Given the description of an element on the screen output the (x, y) to click on. 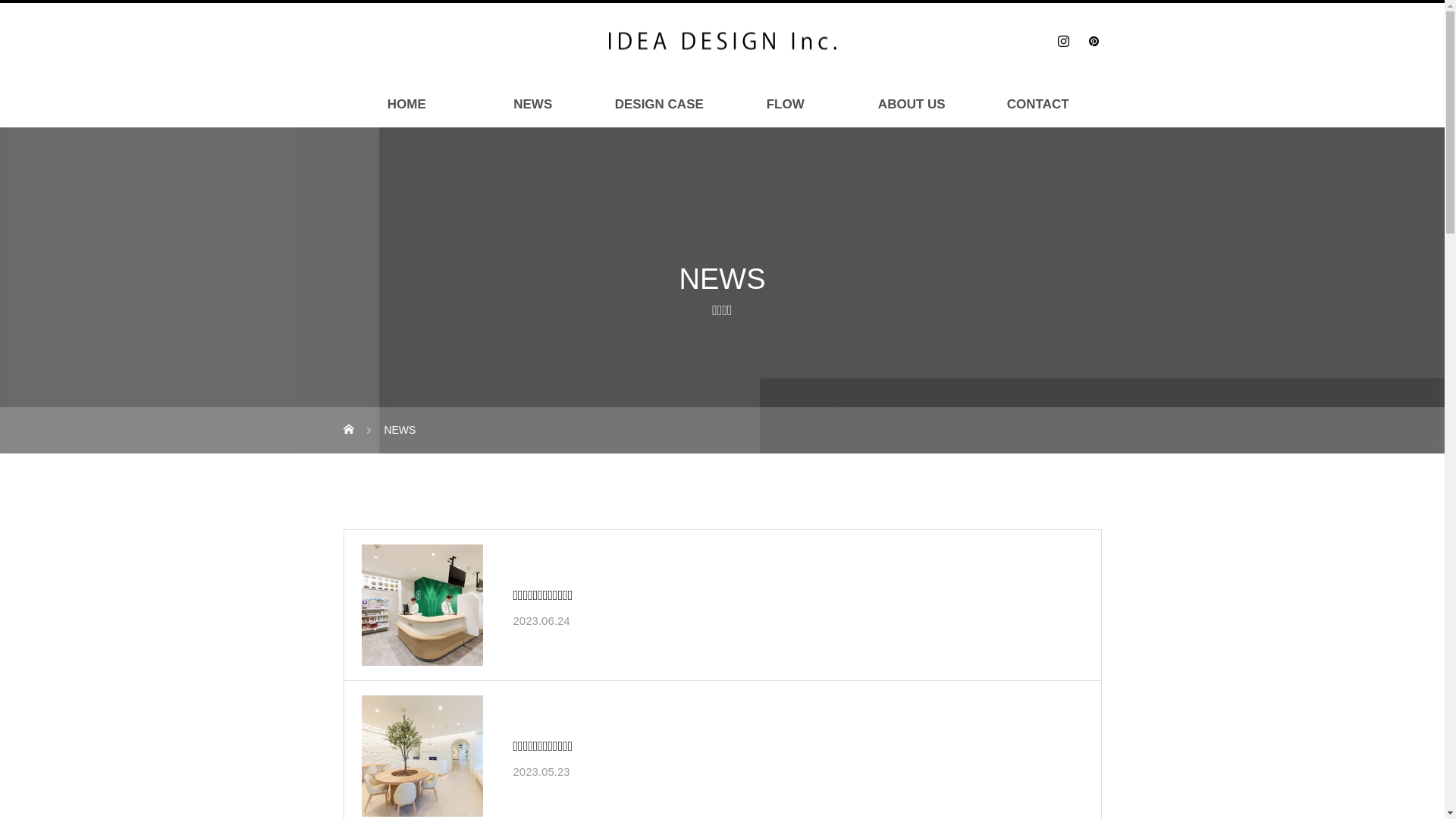
ABOUT US Element type: text (912, 104)
FLOW Element type: text (785, 104)
NEWS Element type: text (533, 104)
HOME Element type: text (407, 104)
CONTACT Element type: text (1038, 104)
Instagram Element type: hover (1062, 40)
Pinterest Element type: hover (1093, 40)
IDEA DESIGN.Inc Element type: hover (721, 40)
IDEA DESIGN.Inc Element type: hover (721, 40)
DESIGN CASE Element type: text (658, 104)
